Given the description of an element on the screen output the (x, y) to click on. 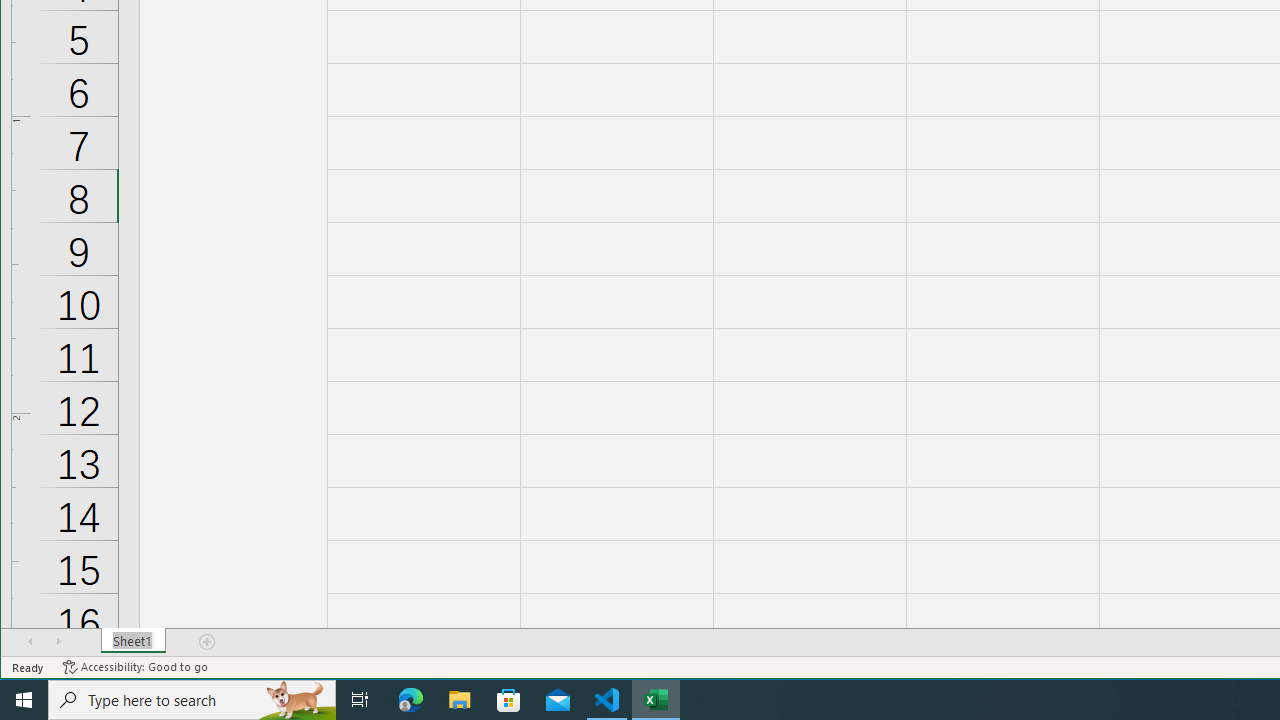
Microsoft Store (509, 699)
Microsoft Edge (411, 699)
Task View (359, 699)
Excel - 1 running window (656, 699)
Type here to search (191, 699)
File Explorer (460, 699)
Sheet Tab (133, 641)
Search highlights icon opens search home window (295, 699)
Visual Studio Code - 1 running window (607, 699)
